Given the description of an element on the screen output the (x, y) to click on. 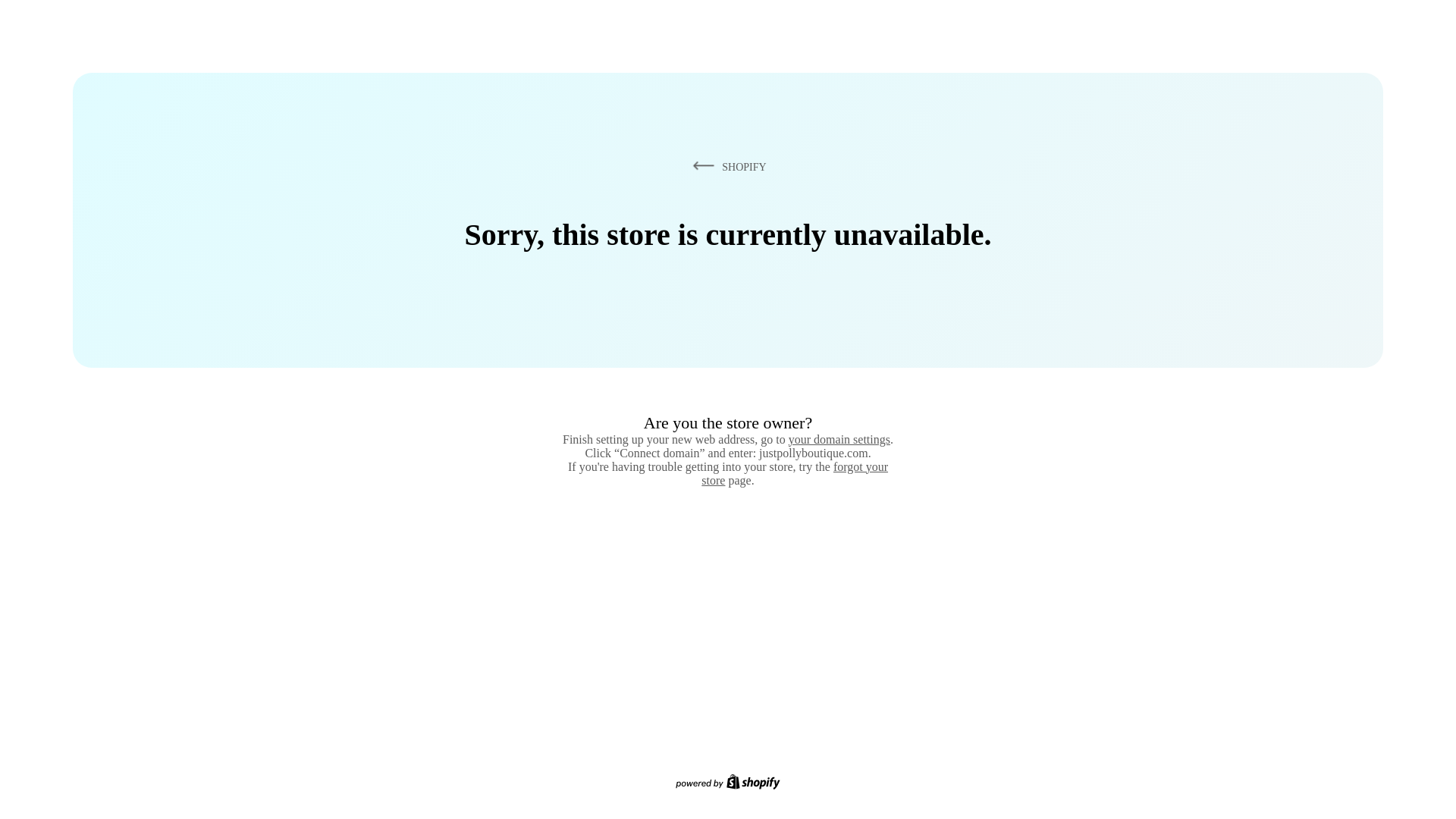
your domain settings (839, 439)
forgot your store (794, 473)
SHOPIFY (726, 166)
